Given the description of an element on the screen output the (x, y) to click on. 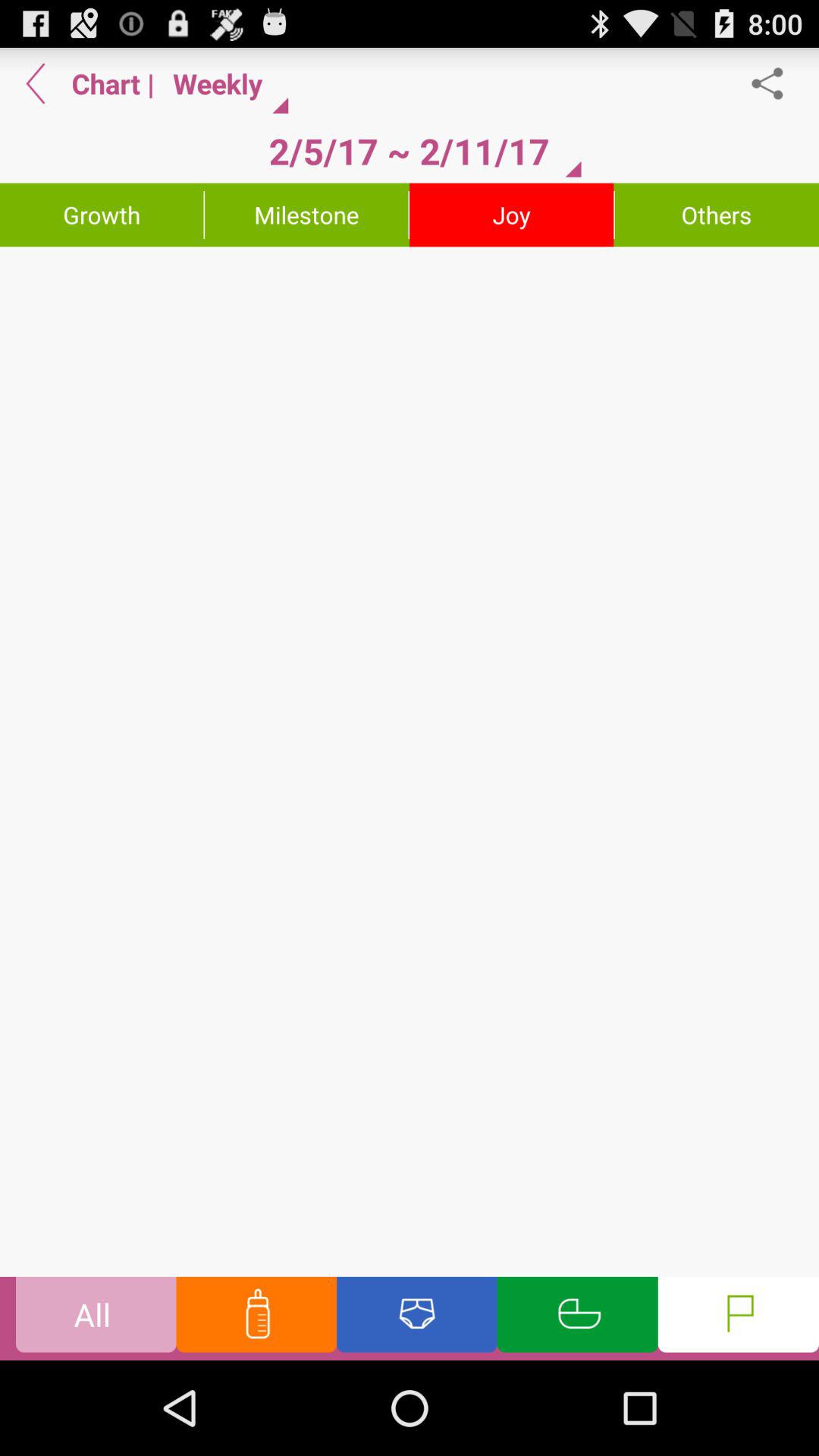
select the icon above the others button (775, 83)
